Given the description of an element on the screen output the (x, y) to click on. 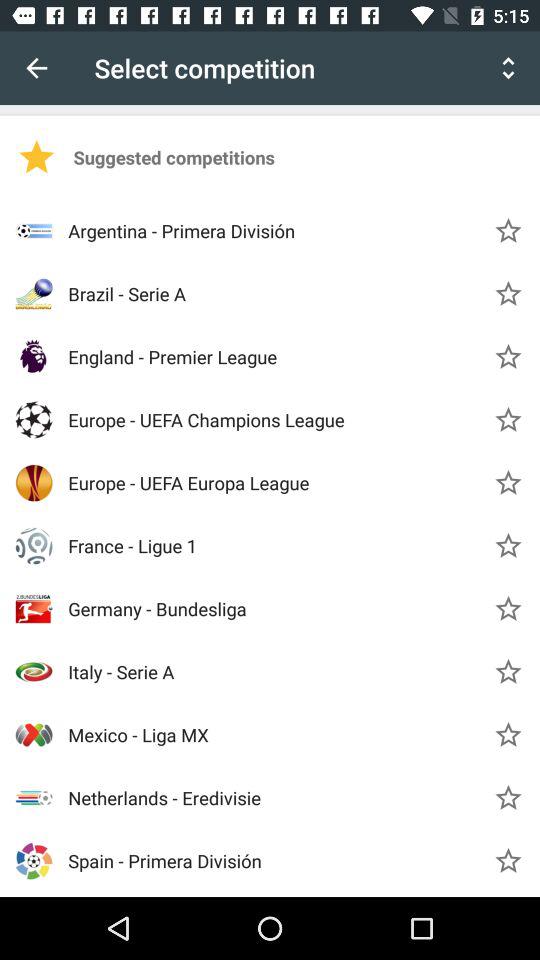
choose icon next to select competition (36, 68)
